Given the description of an element on the screen output the (x, y) to click on. 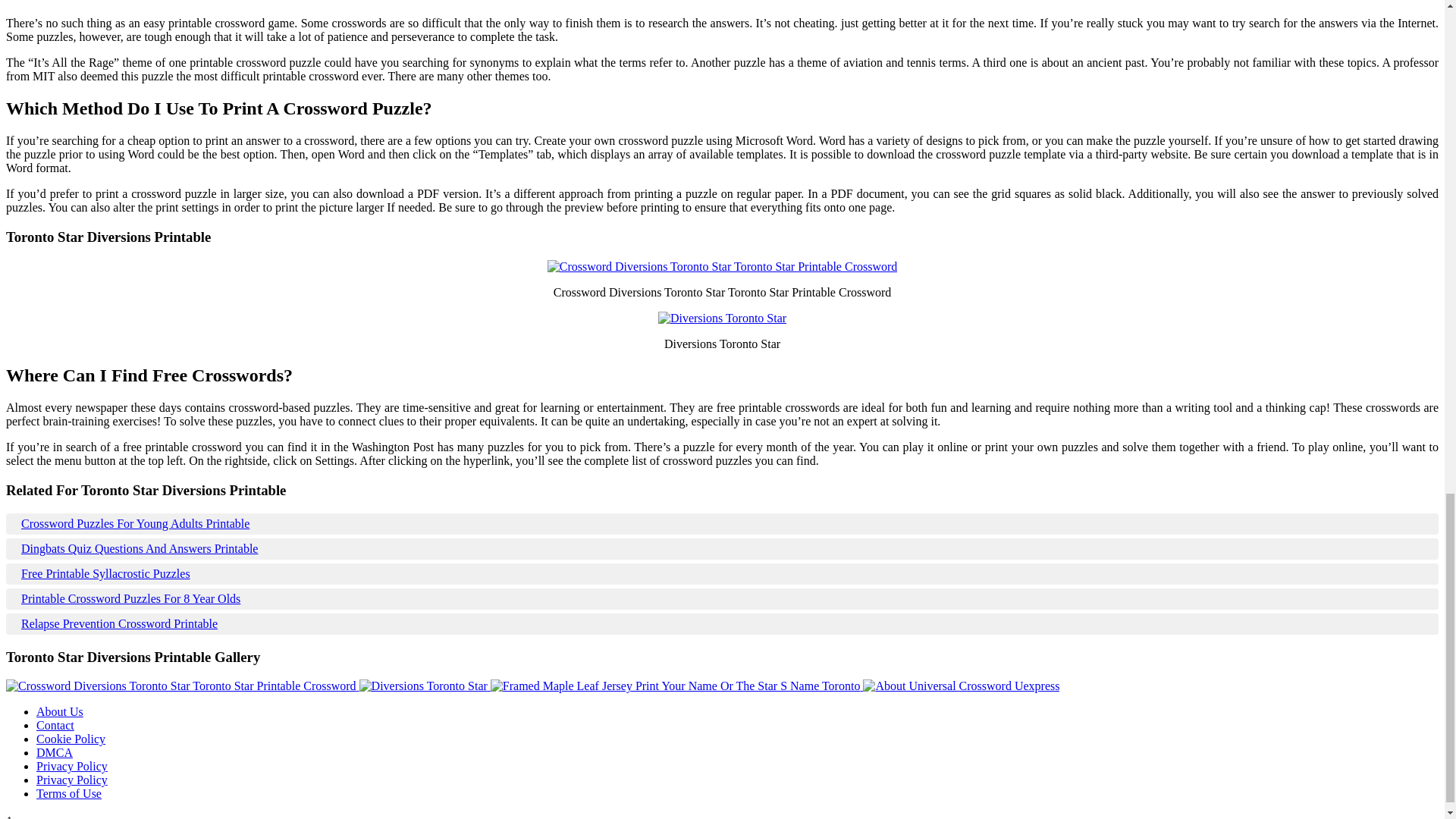
Contact (55, 725)
diversions toronto star 1 (722, 318)
Dingbats Quiz Questions And Answers Printable (722, 548)
Privacy Policy (71, 766)
Crossword Puzzles For Young Adults Printable (722, 523)
Free Printable Syllacrostic Puzzles (722, 573)
About Us (59, 711)
Diversions Toronto Star (423, 685)
